Given the description of an element on the screen output the (x, y) to click on. 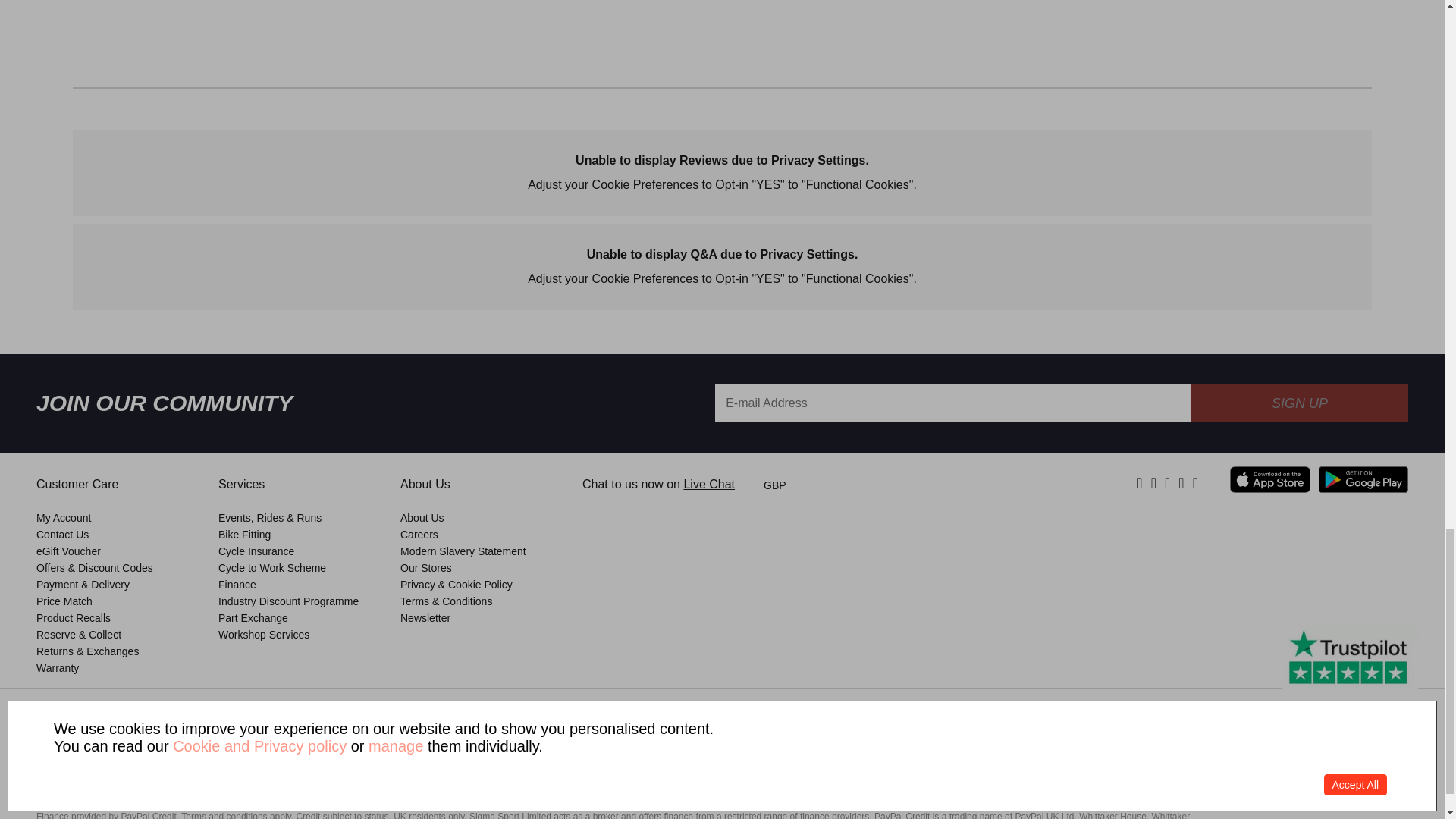
Sign Up (1299, 403)
